Given the description of an element on the screen output the (x, y) to click on. 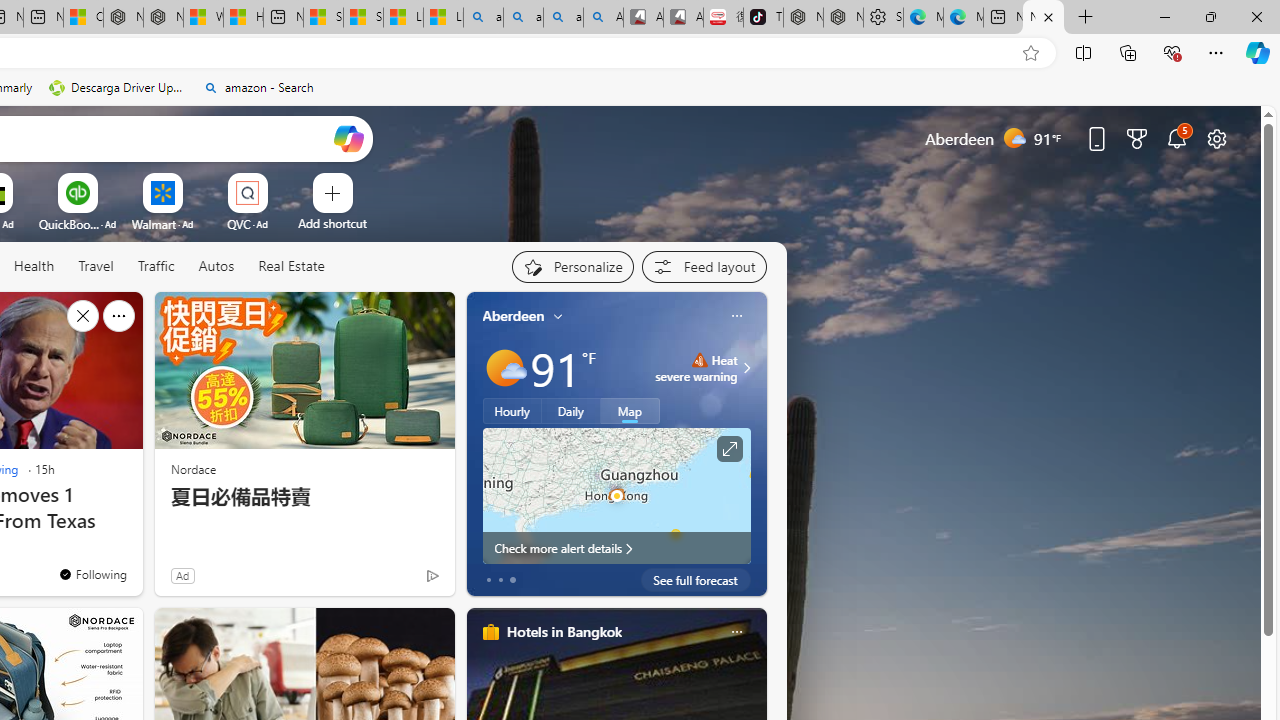
Hourly (511, 411)
Notifications (1176, 138)
You're following The Weather Channel (390, 579)
Traffic (155, 267)
Nordace - Summer Adventures 2024 (163, 17)
Heat - Severe (699, 359)
Settings (883, 17)
Personalize your feed" (571, 266)
Real Estate (291, 265)
